Given the description of an element on the screen output the (x, y) to click on. 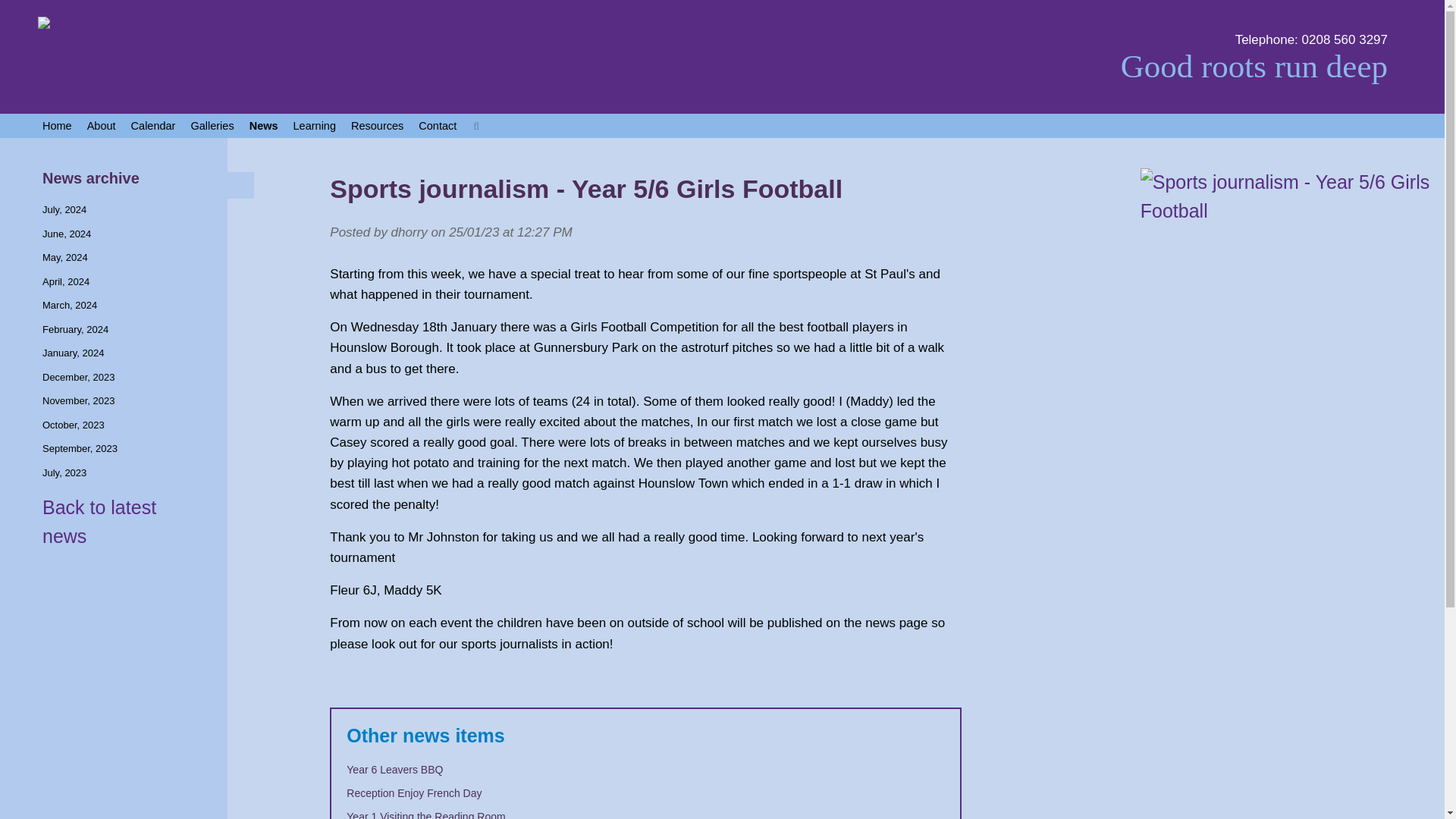
Home (57, 126)
Calendar (153, 126)
About (101, 126)
Learning (314, 126)
News (263, 126)
Galleries (212, 126)
